Given the description of an element on the screen output the (x, y) to click on. 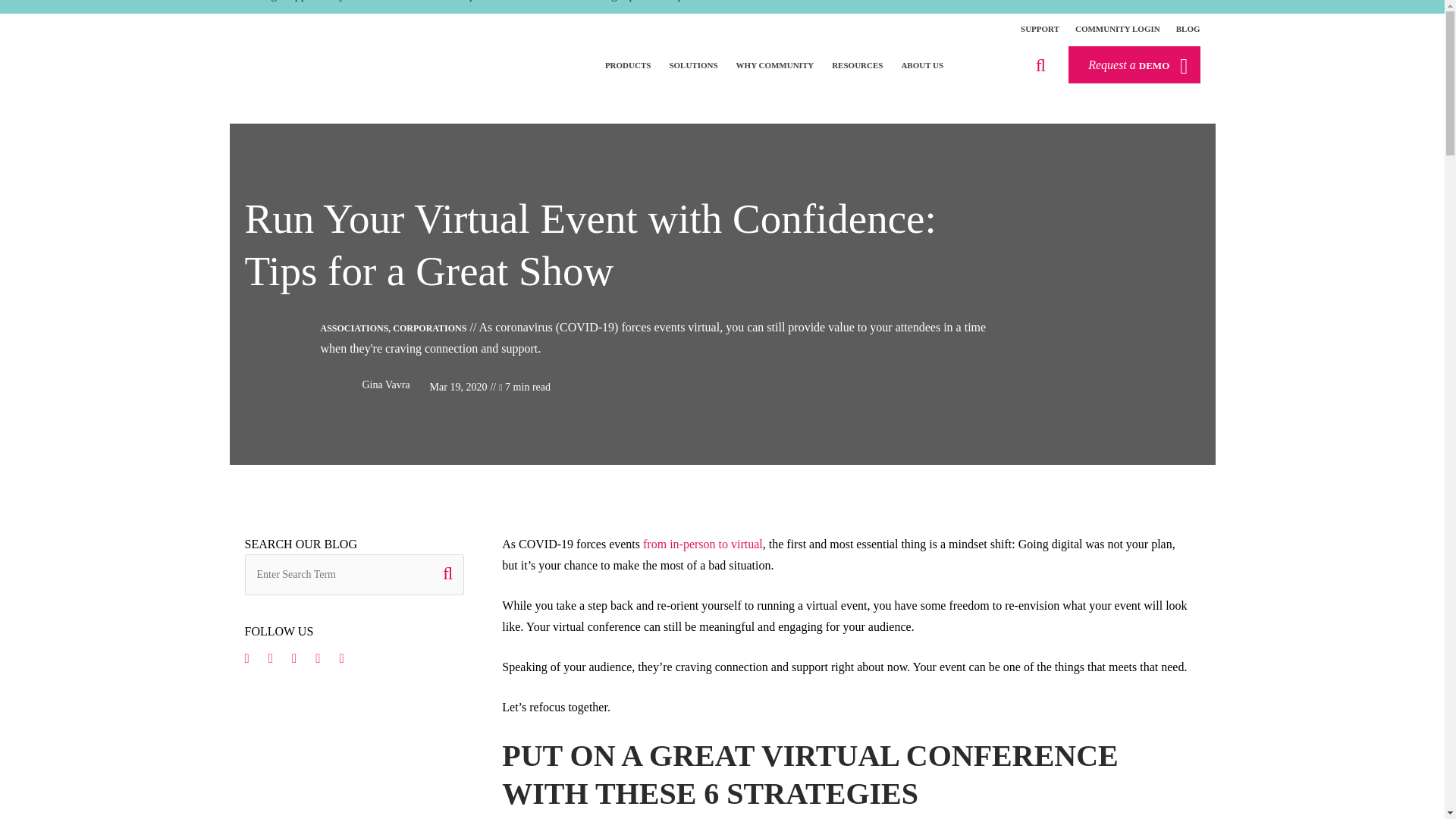
from in-person to virtual (702, 545)
Request a DEMO (1133, 64)
Why Community (774, 65)
Higher Logic (302, 61)
Support (1039, 28)
WHY COMMUNITY (774, 65)
COMMUNITY LOGIN (1117, 28)
BLOG (1187, 28)
Community Login (1117, 28)
